Given the description of an element on the screen output the (x, y) to click on. 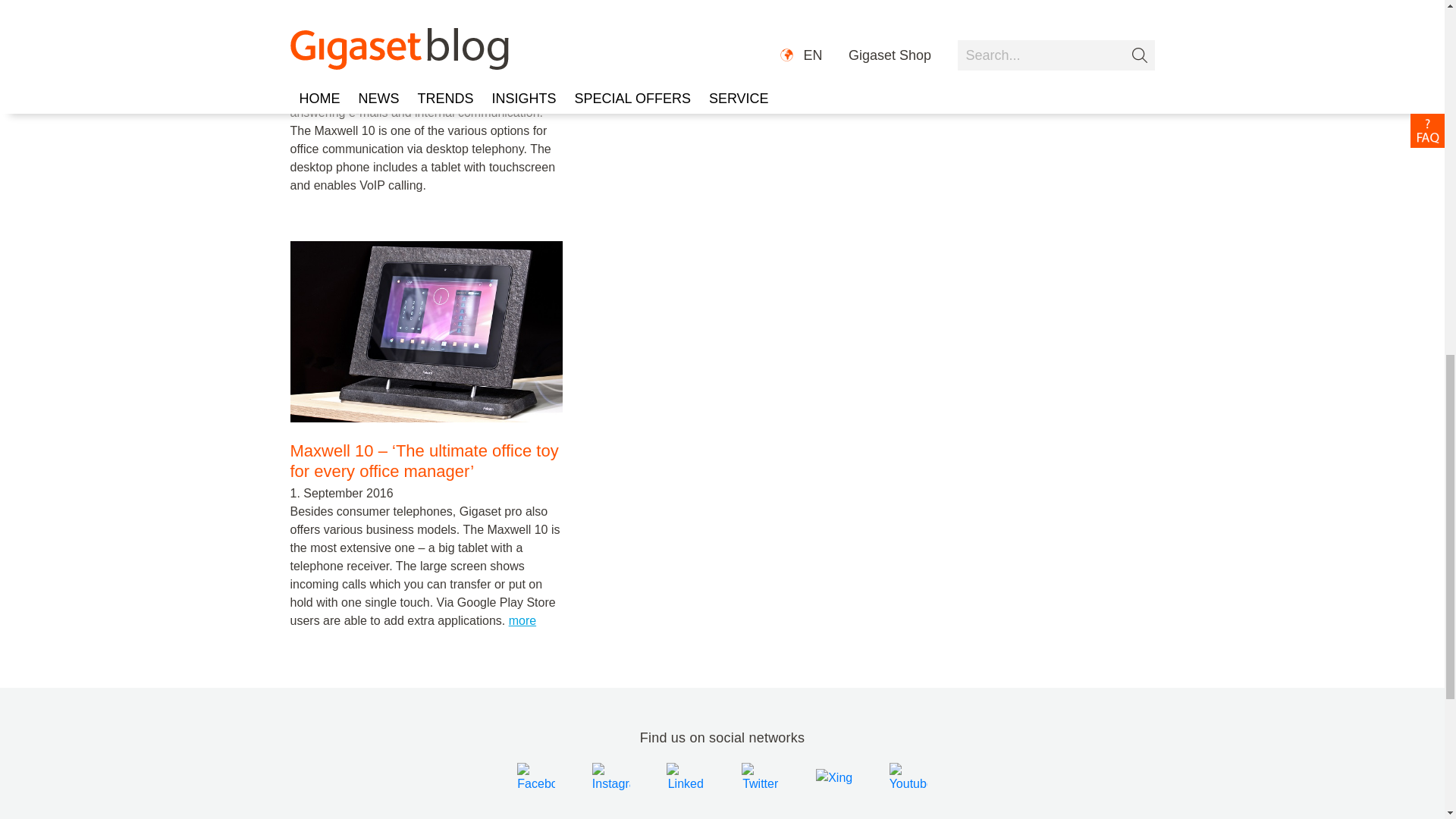
Instagram (612, 776)
Facebook (537, 776)
Facebook (535, 777)
Twitter (762, 776)
Instagram (611, 777)
Twitter (759, 777)
Linked (686, 776)
Linked (685, 777)
